Given the description of an element on the screen output the (x, y) to click on. 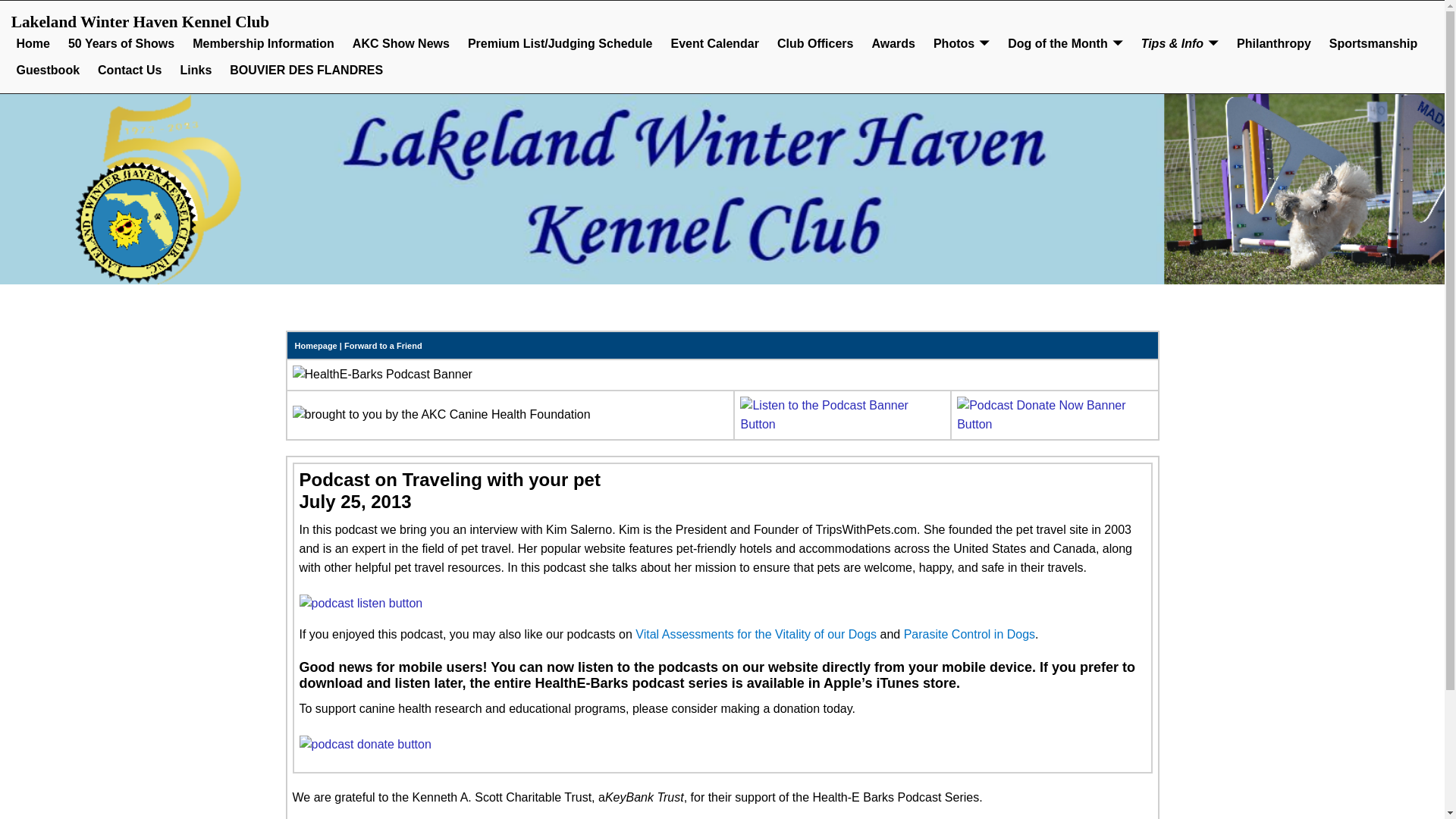
AKC Show News (400, 44)
BOUVIER DES FLANDRES (306, 70)
Philanthropy (1273, 44)
Forward to a Friend (382, 345)
Podcasts (841, 423)
Homepage (315, 345)
Sportsmanship (1373, 44)
Home (33, 44)
Links (196, 70)
Awards (892, 44)
